Given the description of an element on the screen output the (x, y) to click on. 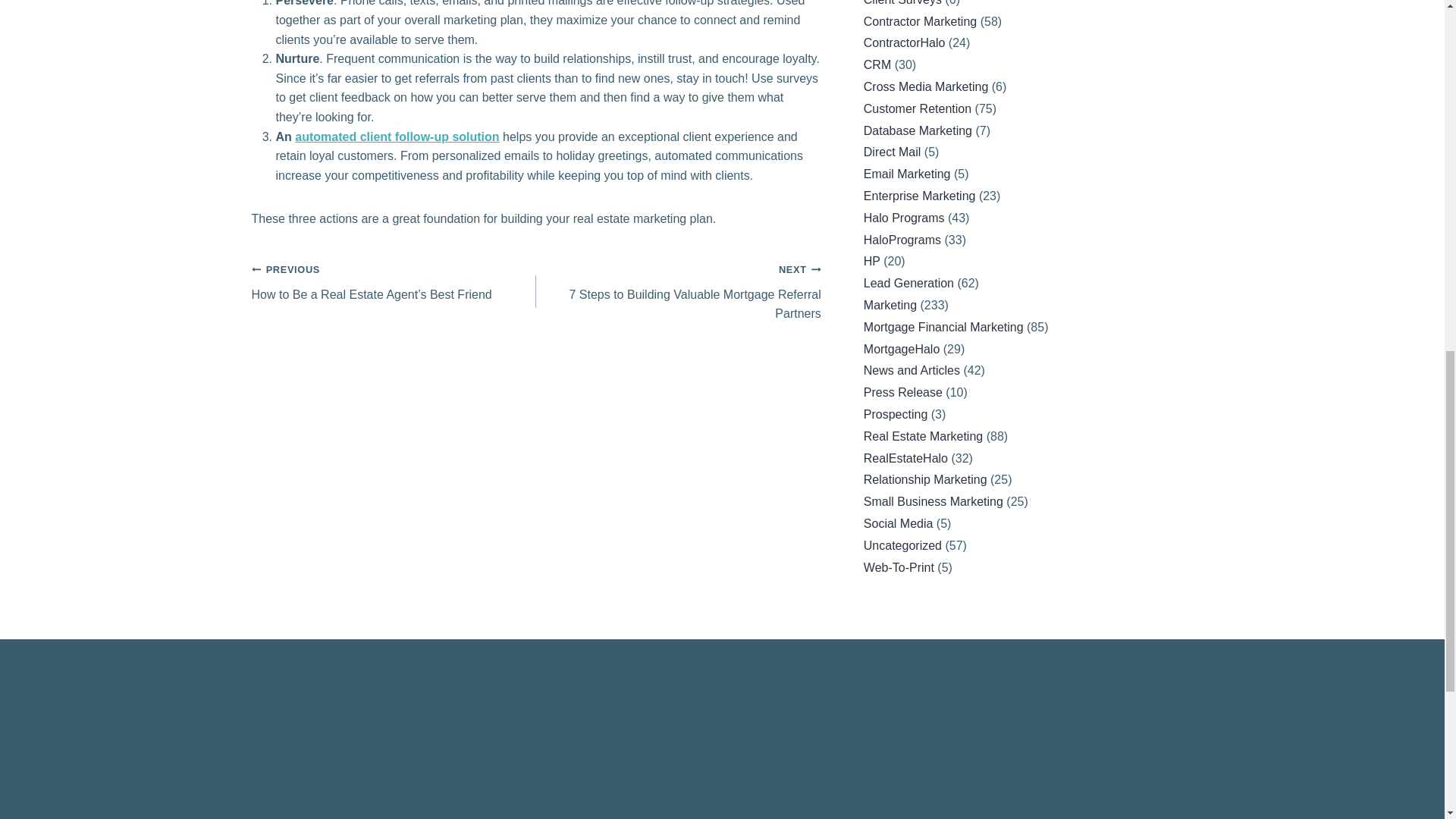
automated client follow-up solution (397, 136)
